Given the description of an element on the screen output the (x, y) to click on. 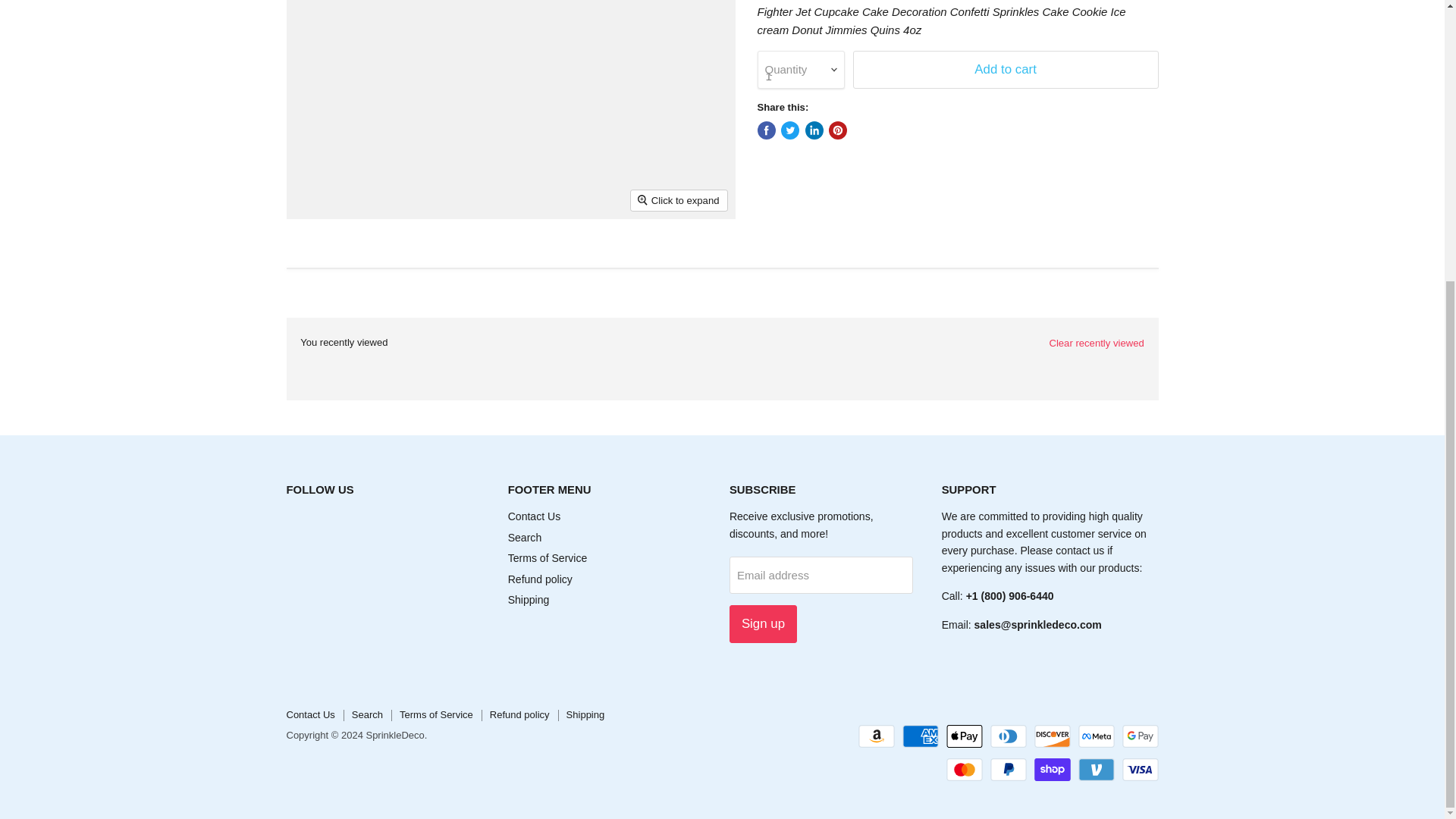
Amazon (877, 735)
American Express (920, 735)
Apple Pay (964, 735)
